Given the description of an element on the screen output the (x, y) to click on. 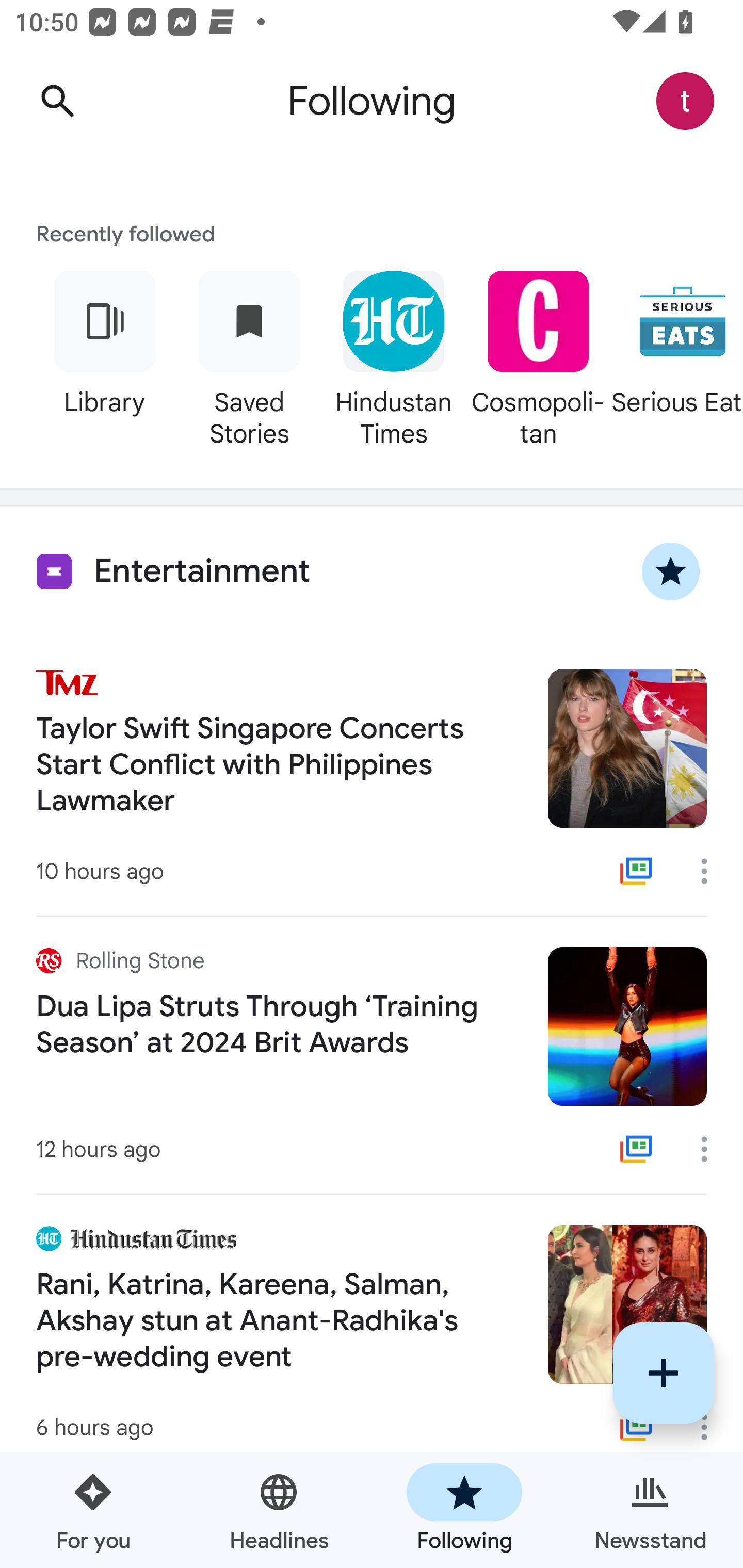
Search (57, 100)
Library (104, 355)
Saved Stories (248, 355)
Hindustan Times (393, 355)
Cosmopolitan (537, 355)
Serious Eats (676, 355)
Entertainment Entertainment Unfollow (371, 571)
Unfollow (670, 571)
More options (711, 870)
More options (711, 1149)
Follow (663, 1372)
More options (711, 1426)
For you (92, 1509)
Headlines (278, 1509)
Following (464, 1509)
Newsstand (650, 1509)
